Given the description of an element on the screen output the (x, y) to click on. 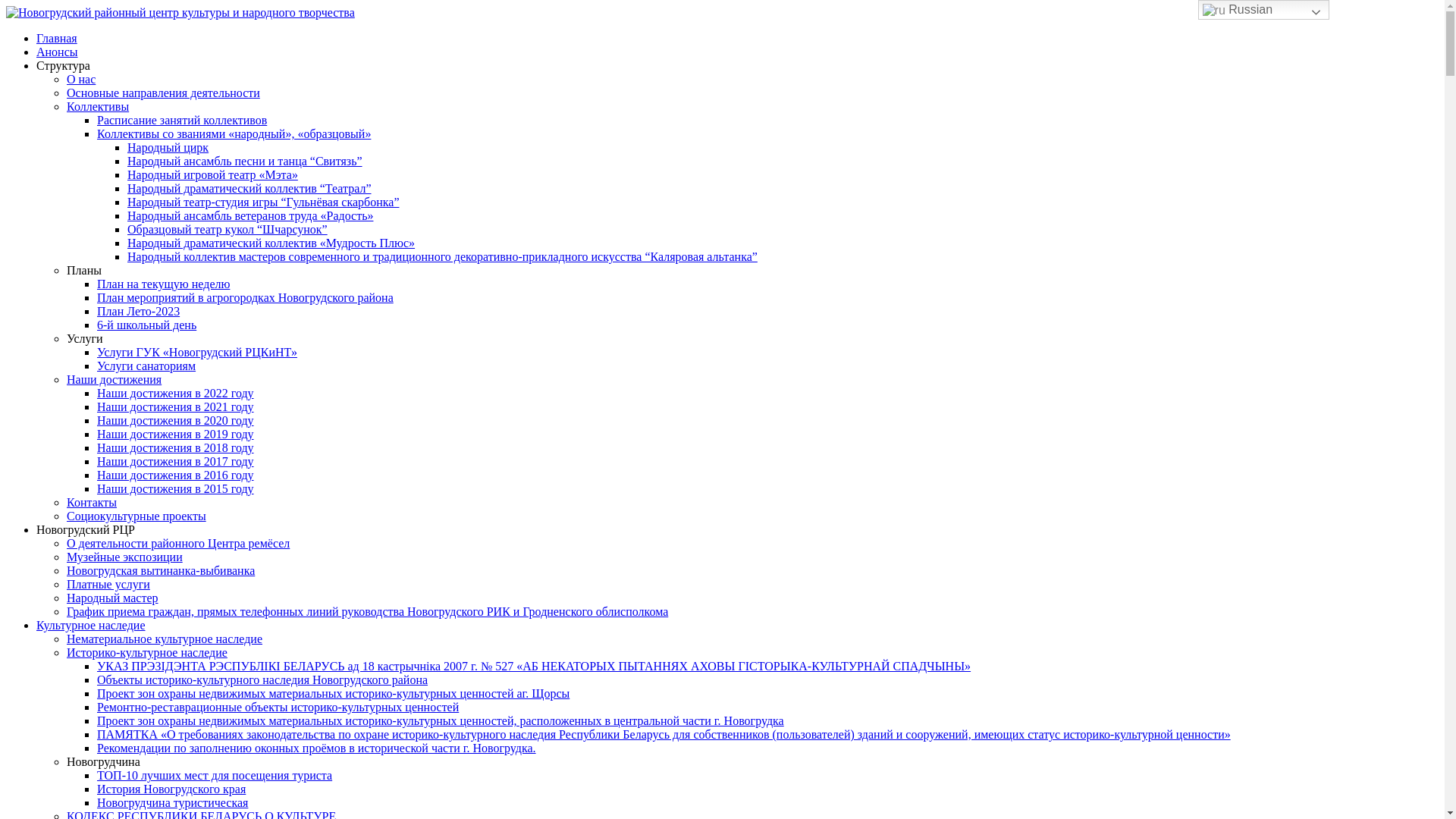
Russian Element type: text (1263, 9)
